Given the description of an element on the screen output the (x, y) to click on. 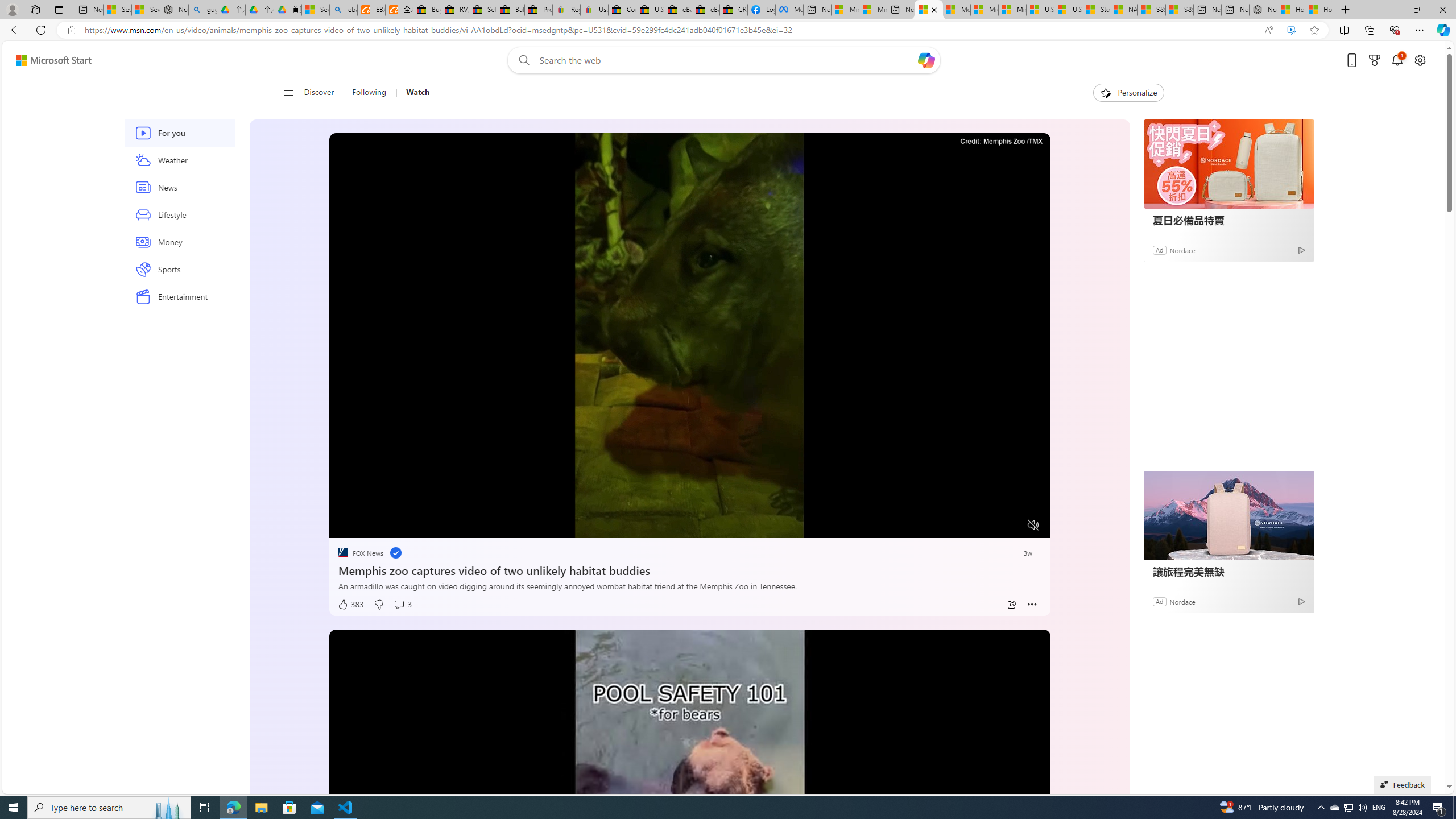
Memphis zoo captures video of two unlikely habitat buddies (689, 568)
Quality Settings (964, 525)
Meta Store (789, 9)
Seek Back (368, 525)
Enter your search term (726, 59)
